Given the description of an element on the screen output the (x, y) to click on. 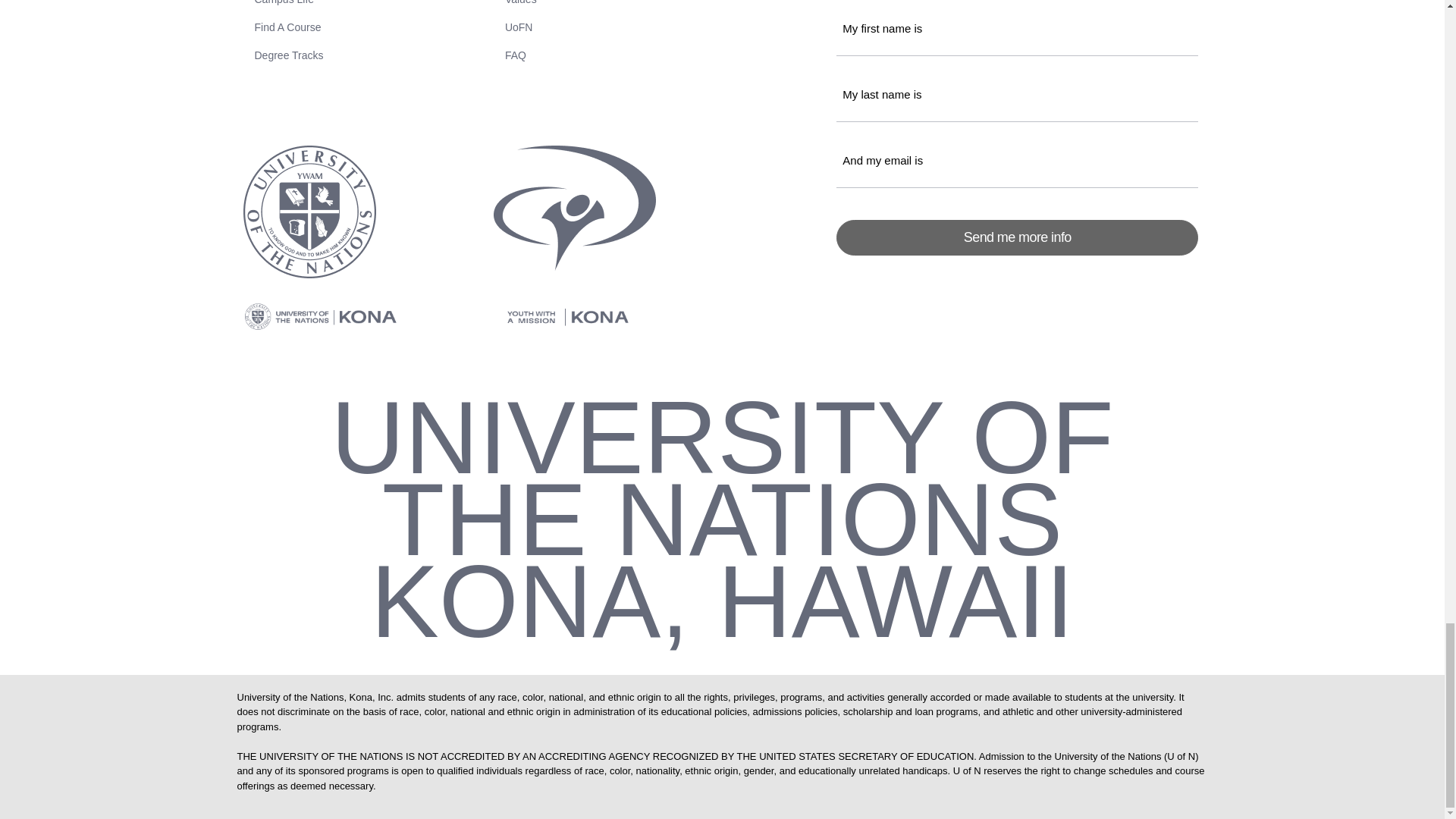
UoFN (664, 27)
Find A Course (367, 27)
Degree Tracks (367, 55)
Values (664, 3)
Send me more info (1016, 237)
Send me more info (1016, 237)
Campus Life (367, 3)
FAQ (664, 55)
